Given the description of an element on the screen output the (x, y) to click on. 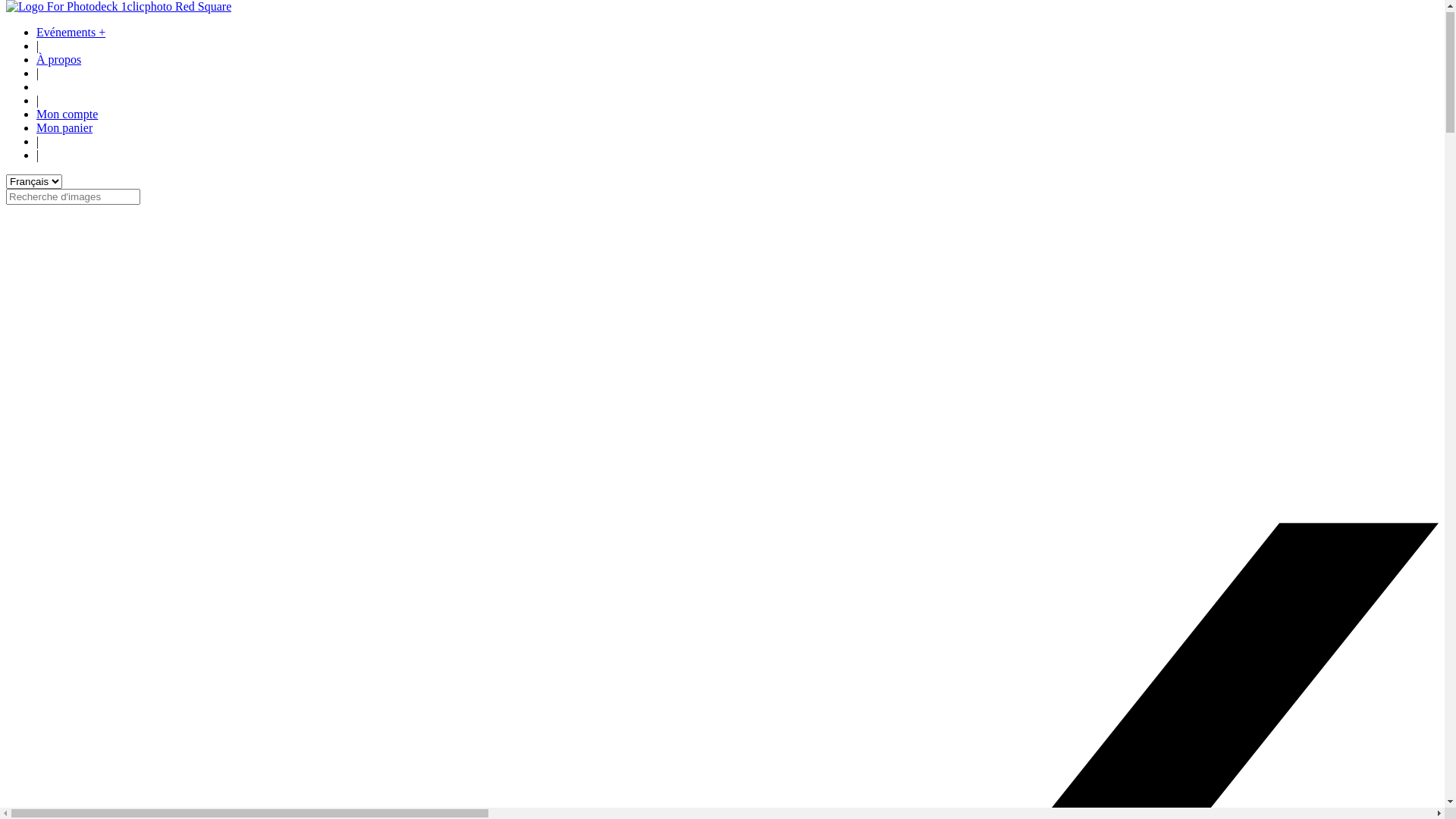
Mon panier Element type: text (64, 133)
Mon compte Element type: text (66, 119)
